Given the description of an element on the screen output the (x, y) to click on. 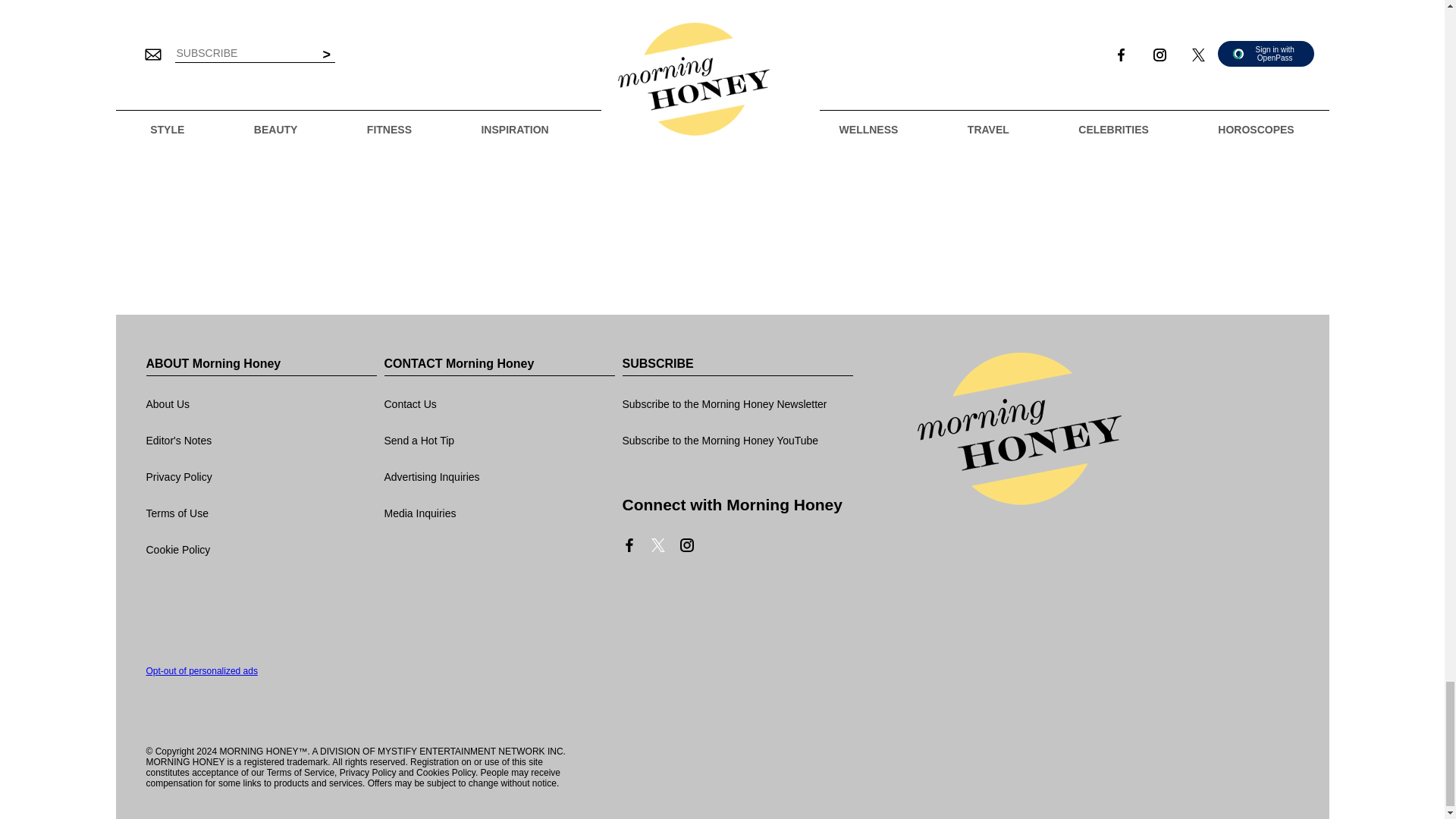
Send a Hot Tip (499, 441)
Link to Instagram (686, 545)
Media Inquiries (499, 514)
About Us (260, 404)
Cookie Policy (260, 550)
Contact Us (499, 404)
Privacy Policy (260, 477)
Terms of Use (260, 514)
Editor's Notes (260, 441)
Subscribe to the Morning Honey YouTube (736, 441)
Subscribe to the Morning Honey Newsletter (736, 404)
Link to X (656, 545)
Advertising Inquiries (499, 477)
Link to Facebook (627, 545)
